Given the description of an element on the screen output the (x, y) to click on. 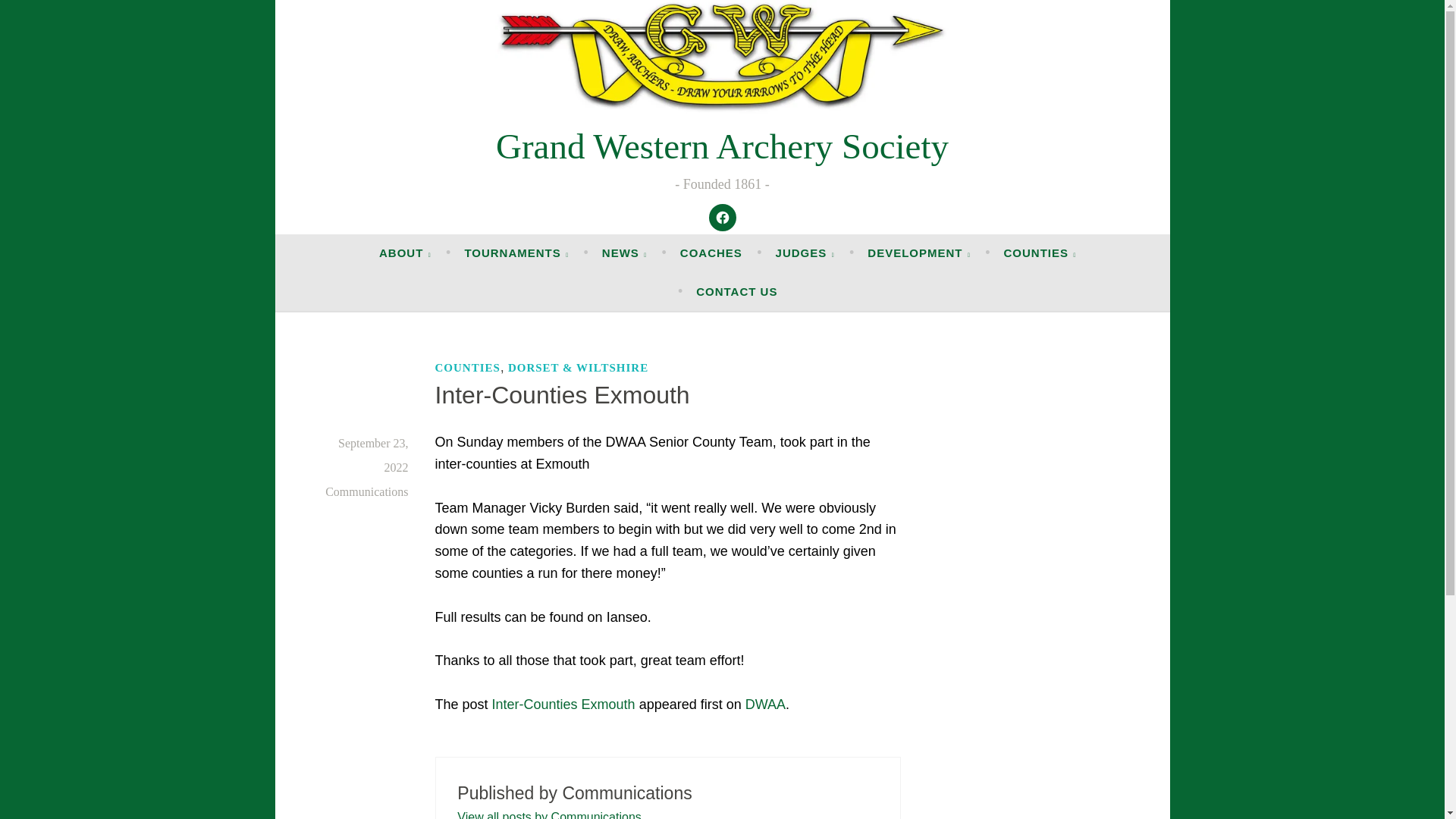
Grand Western Archery Society (722, 146)
CONTACT US (736, 291)
COUNTIES (1040, 252)
Facebook (721, 217)
NEWS (624, 252)
COACHES (710, 252)
DEVELOPMENT (919, 252)
ABOUT (404, 252)
TOURNAMENTS (516, 252)
JUDGES (805, 252)
